Given the description of an element on the screen output the (x, y) to click on. 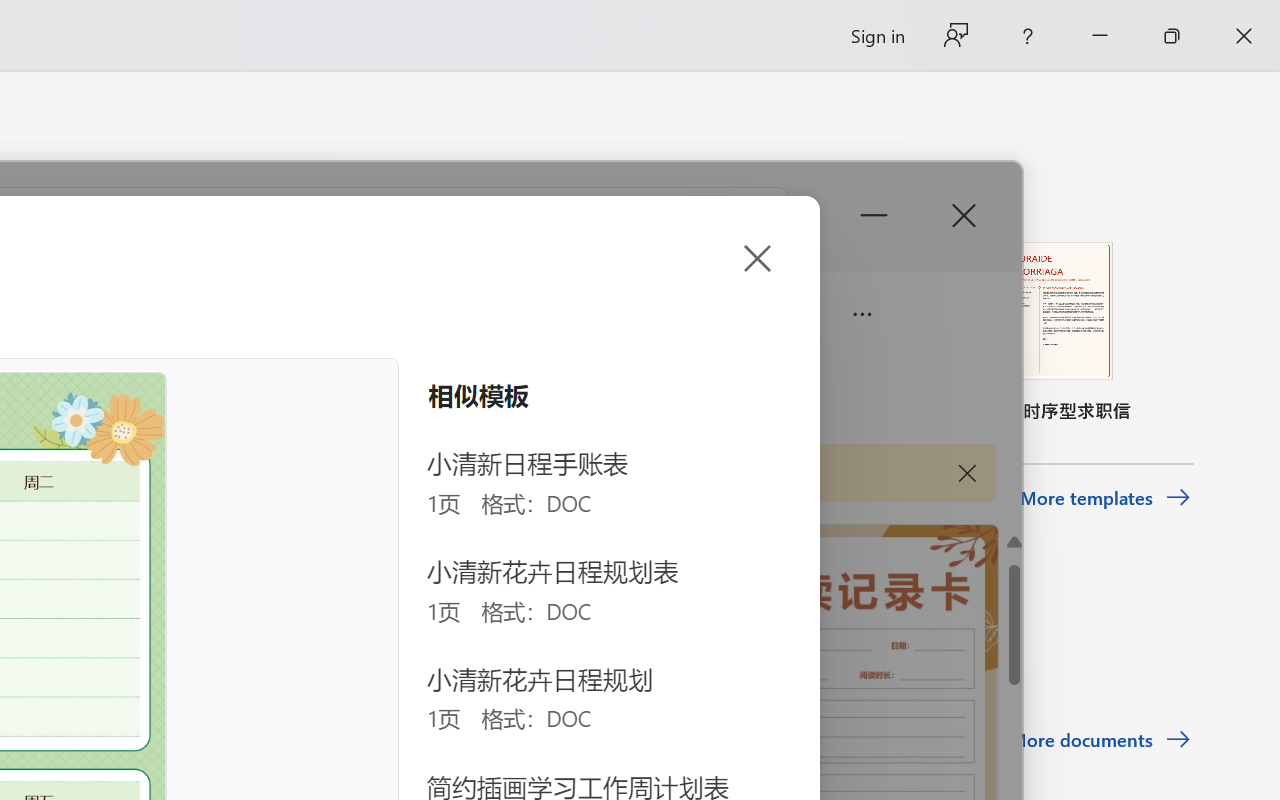
Sign in (875, 35)
More templates (1105, 498)
More documents (1100, 740)
